Given the description of an element on the screen output the (x, y) to click on. 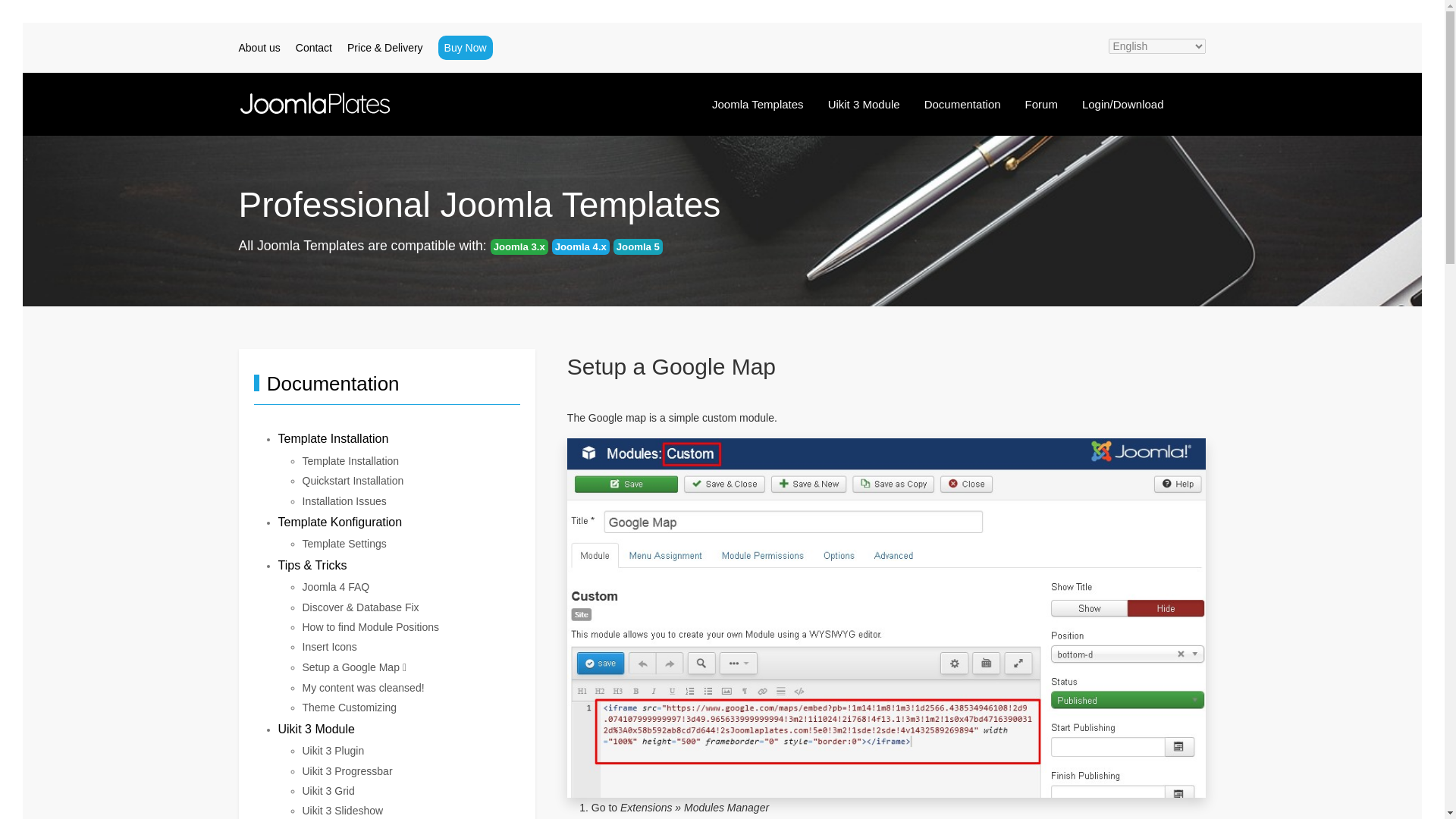
About us (258, 47)
How to find Module Positions (370, 626)
Profil (1186, 95)
Template Settings (343, 543)
Uikit 3 Module (863, 104)
Joomla Templates (757, 104)
Forum (1041, 104)
Installation Issues (343, 500)
Forum (1041, 104)
Uikit 3 Plugin (332, 750)
Joomla 4 FAQ (335, 586)
Joomla Templates (757, 104)
Documentation (962, 104)
Setup a Google Map (353, 666)
My content was cleansed! (362, 687)
